Given the description of an element on the screen output the (x, y) to click on. 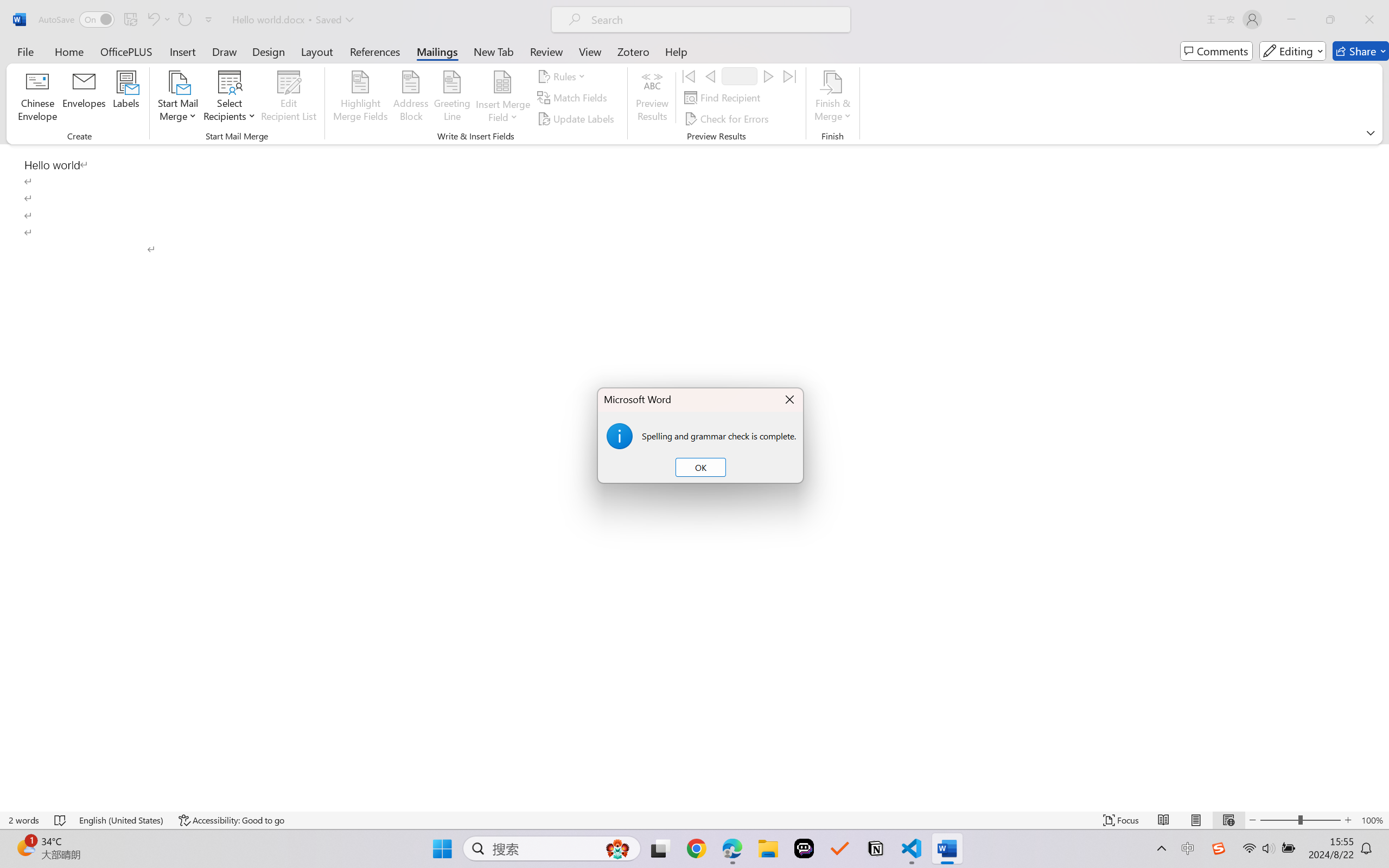
Zoom Out (1278, 819)
Zotero (632, 51)
AutoSave (76, 19)
Finish & Merge (832, 97)
View (589, 51)
Envelopes... (84, 97)
Insert Merge Field (502, 97)
Class: Static (618, 436)
Can't Repeat (184, 19)
